Given the description of an element on the screen output the (x, y) to click on. 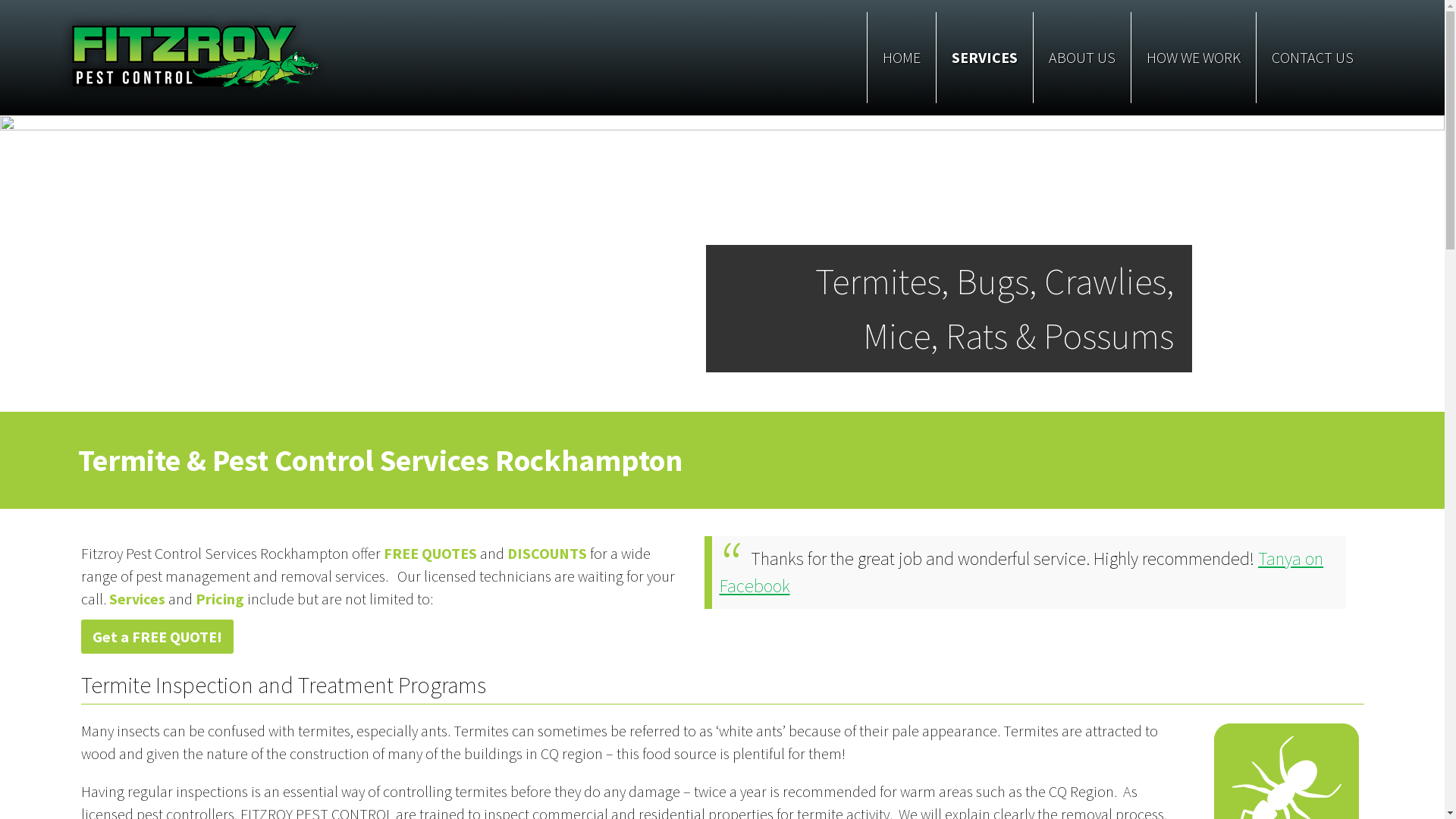
HOME Element type: text (901, 57)
HOW WE WORK Element type: text (1193, 57)
Tanya on Facebook Element type: text (1020, 571)
ABOUT US Element type: text (1081, 57)
CONTACT US Element type: text (1312, 57)
SERVICES Element type: text (984, 57)
Get a FREE QUOTE! Element type: text (156, 636)
